Given the description of an element on the screen output the (x, y) to click on. 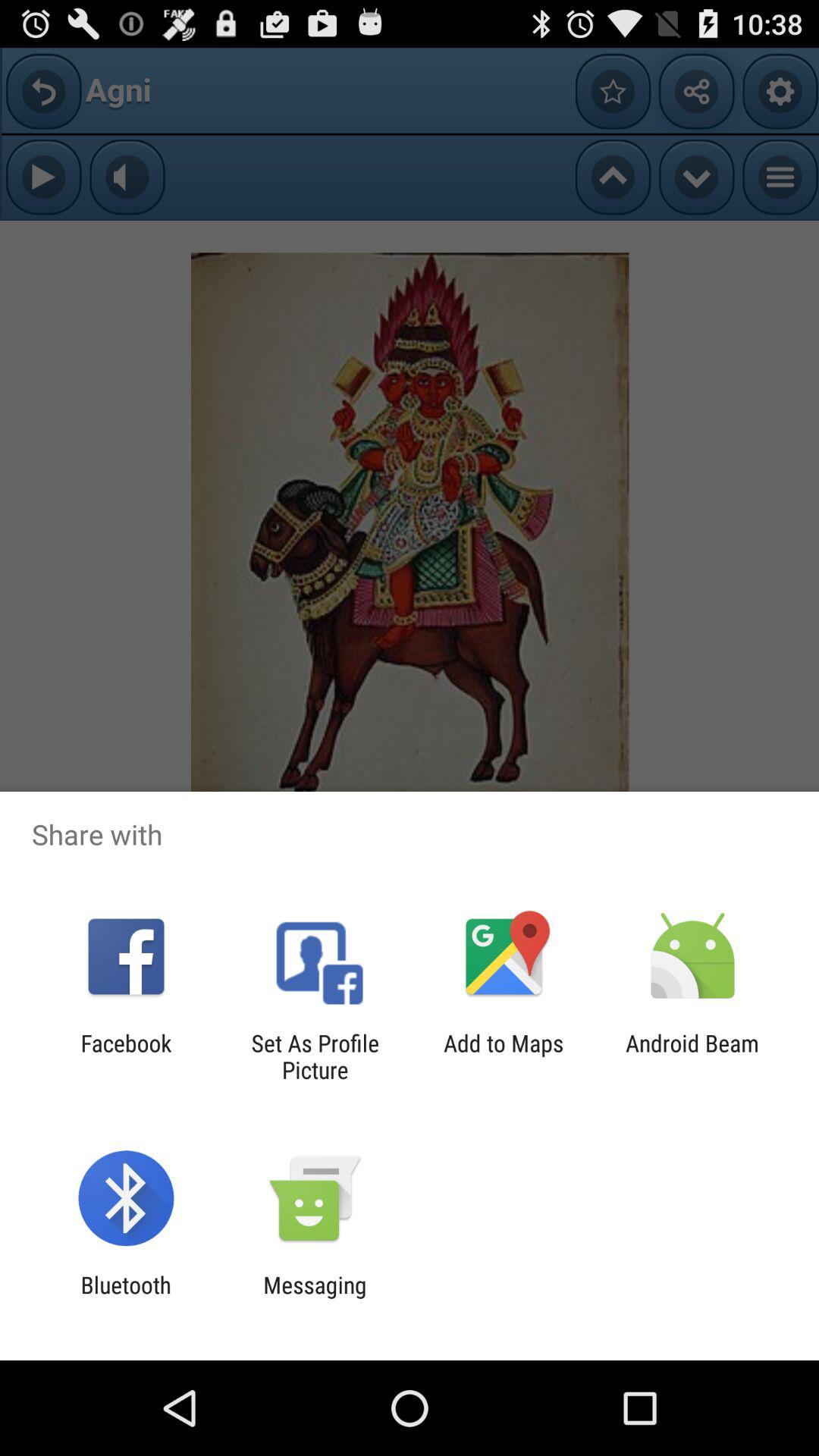
turn off the icon to the left of set as profile app (125, 1056)
